Given the description of an element on the screen output the (x, y) to click on. 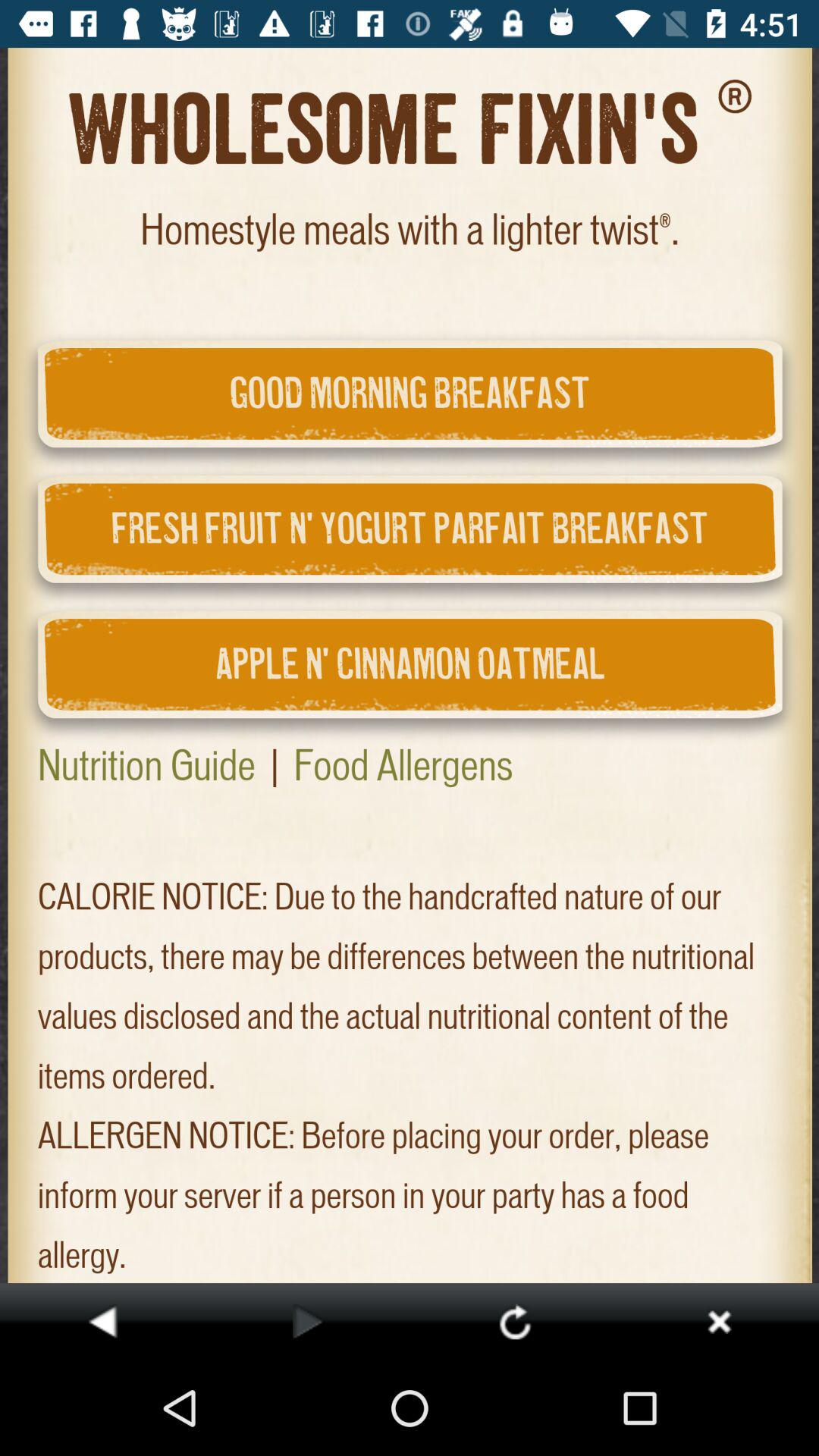
go back (102, 1321)
